Given the description of an element on the screen output the (x, y) to click on. 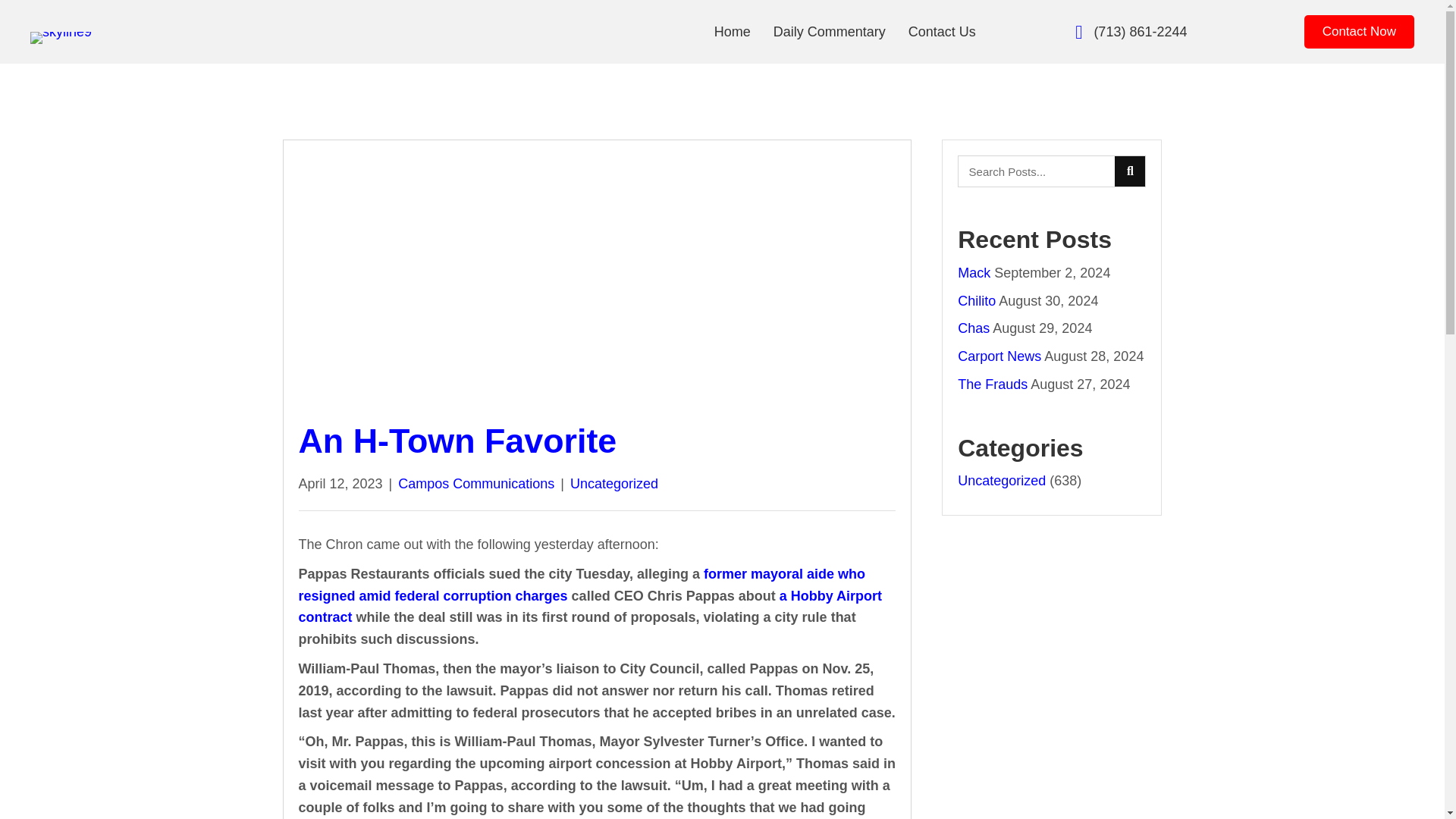
Contact Now (1358, 31)
Uncategorized (614, 483)
The Frauds (992, 384)
Search (1036, 171)
skyline9 (60, 37)
Contact Us (941, 31)
Uncategorized (1001, 480)
a Hobby Airport contract (590, 606)
Carport News (999, 355)
